Given the description of an element on the screen output the (x, y) to click on. 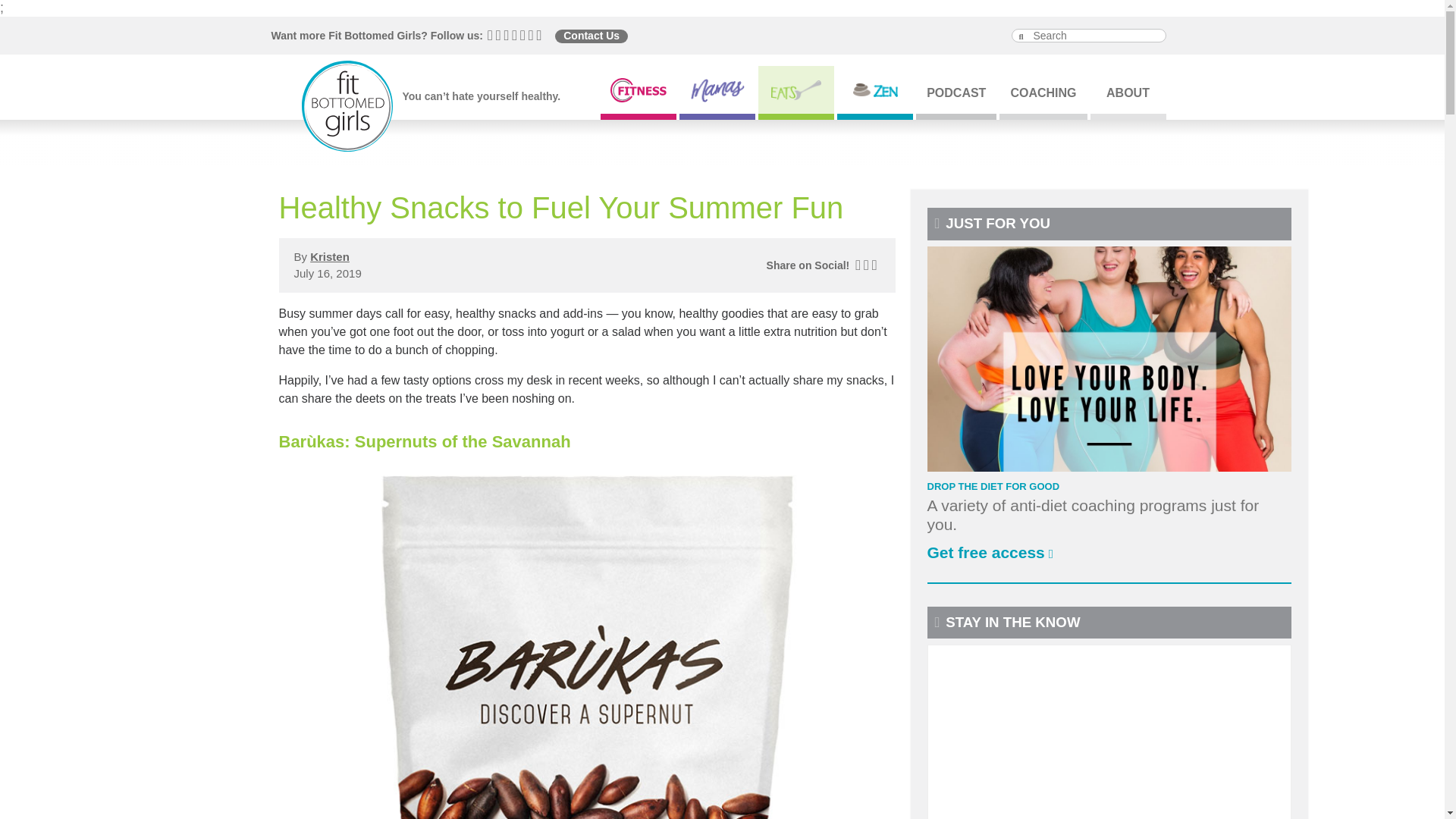
Posts by Kristen (329, 256)
Contact Us (590, 36)
